Given the description of an element on the screen output the (x, y) to click on. 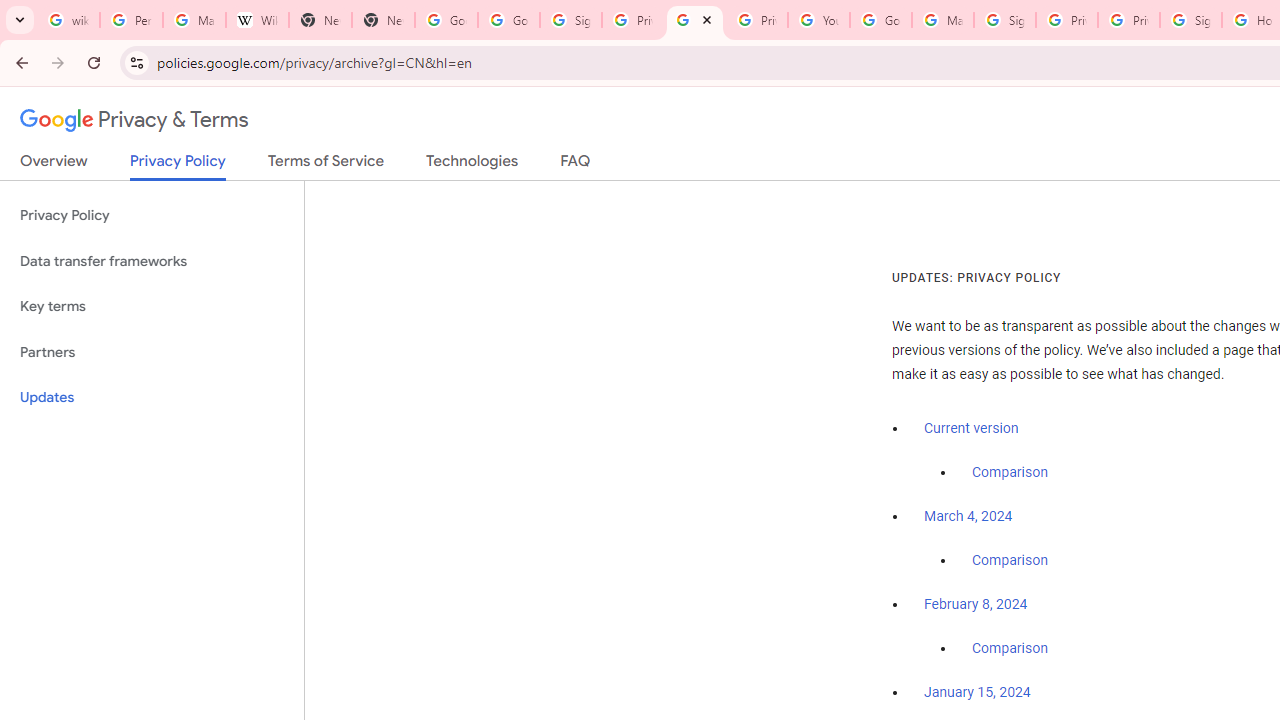
January 15, 2024 (977, 693)
New Tab (383, 20)
Sign in - Google Accounts (570, 20)
March 4, 2024 (968, 517)
Comparison (1009, 649)
